Given the description of an element on the screen output the (x, y) to click on. 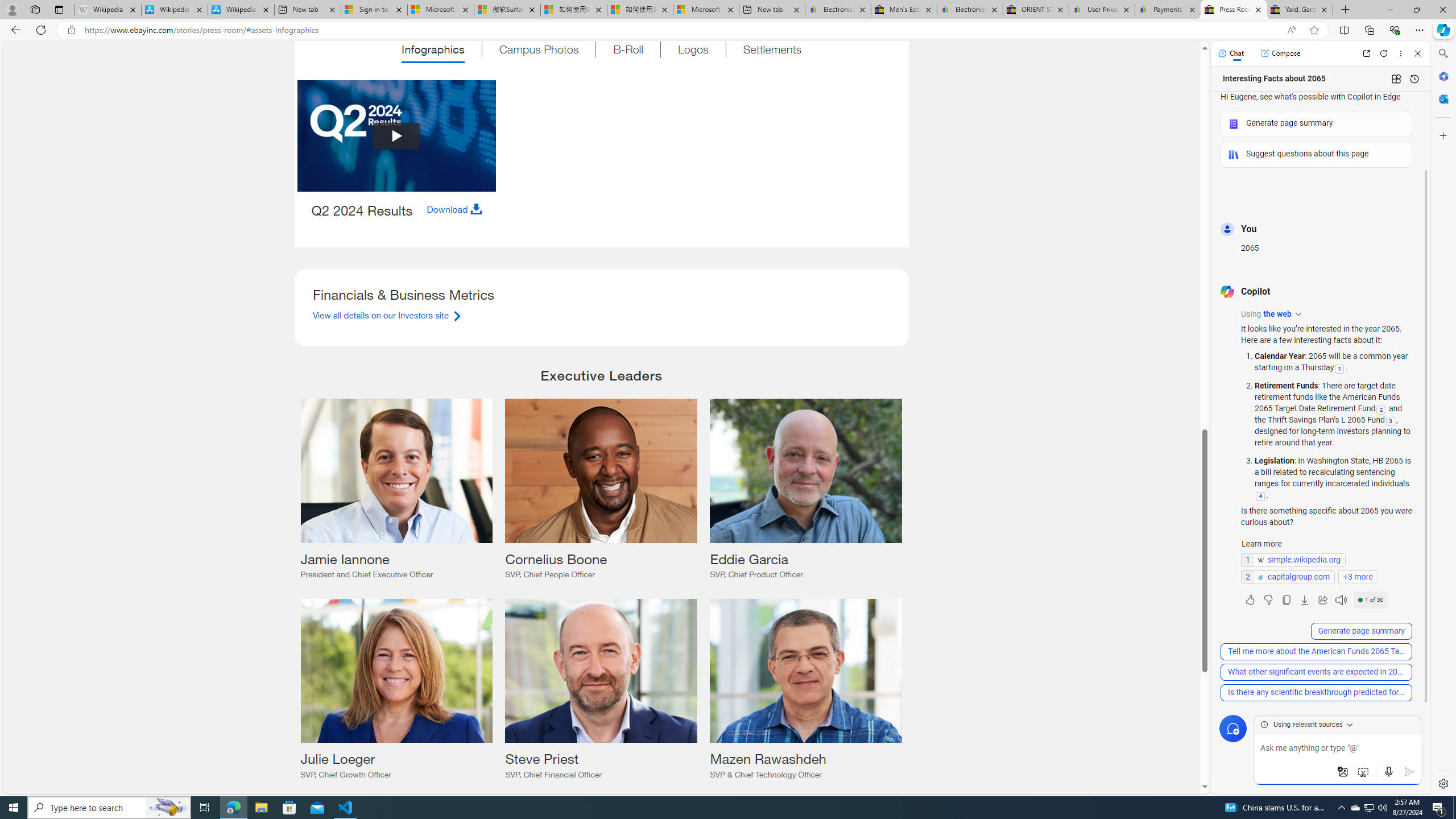
Wikipedia - Sleeping (107, 9)
Chat (1231, 52)
Microsoft Services Agreement (441, 9)
Press Room - eBay Inc. (1233, 9)
Microsoft account | Account Checkup (706, 9)
